Given the description of an element on the screen output the (x, y) to click on. 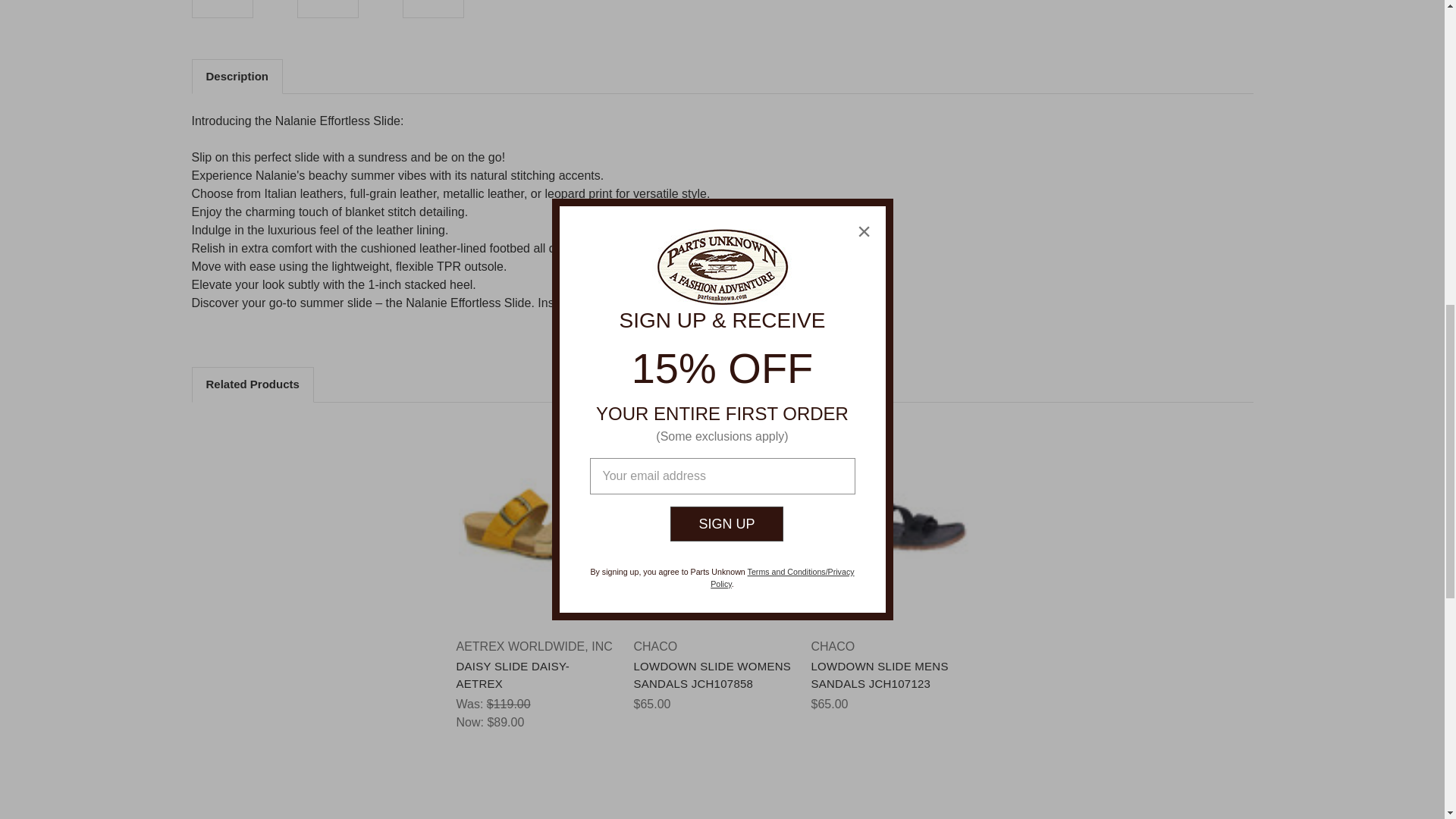
NALANIE SLIDE NALANIE (432, 7)
NALANIE SLIDE NALANIE (222, 7)
LOWDOWN SLIDE WOMENS SANDALS JCH107858 (712, 524)
LOWDOWN SLIDE MENS SANDALS JCH107123 (890, 524)
NALANIE SLIDE NALANIE (327, 7)
DAISY SLIDE DAISY-AETREX (535, 524)
